Given the description of an element on the screen output the (x, y) to click on. 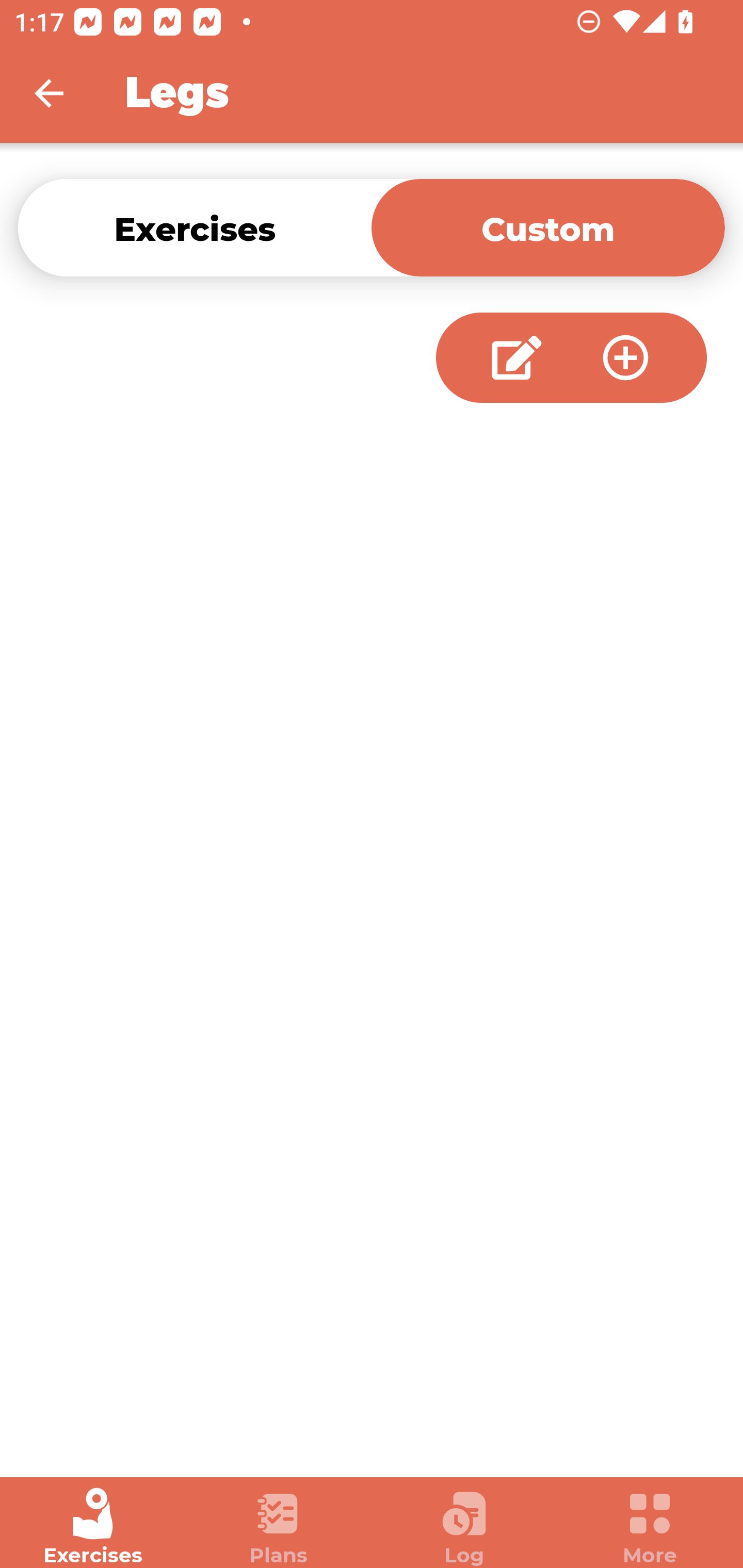
Back (62, 92)
Exercises (194, 226)
Custom (548, 226)
Exercises (92, 1527)
Plans (278, 1527)
Log (464, 1527)
More (650, 1527)
